Given the description of an element on the screen output the (x, y) to click on. 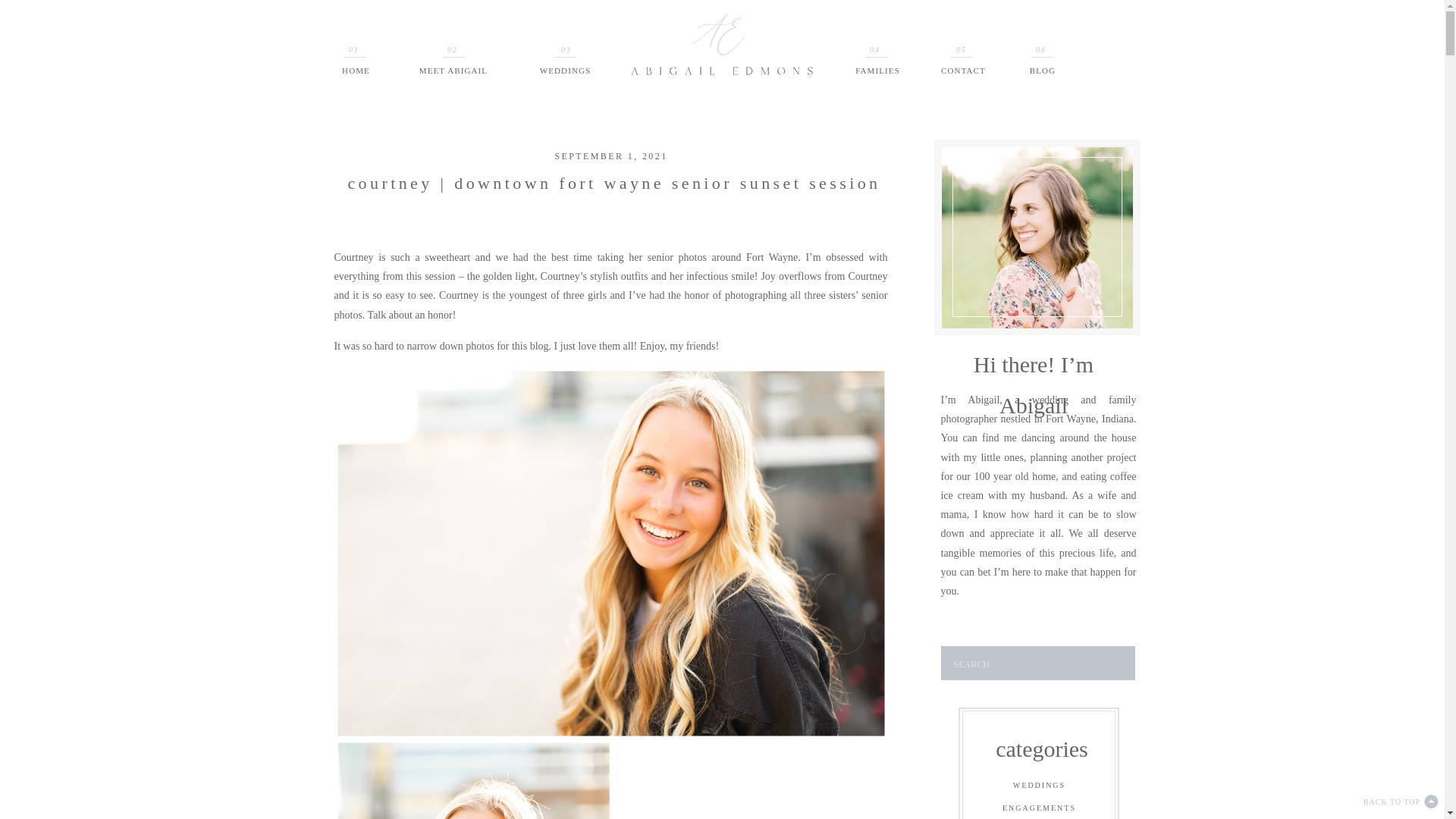
CONTACT (839, 17)
WEDDINGS (1038, 788)
FAMILIES (753, 17)
BLOG (919, 17)
BLOG (1042, 70)
FAMILIES (877, 70)
MEET ABIGAIL (577, 17)
MEET ABIGAIL (452, 70)
WEDDINGS (565, 70)
HOME (497, 17)
HOME (356, 70)
ENGAGEMENTS (1038, 810)
CONTACT (962, 70)
WEDDINGS (668, 17)
